Given the description of an element on the screen output the (x, y) to click on. 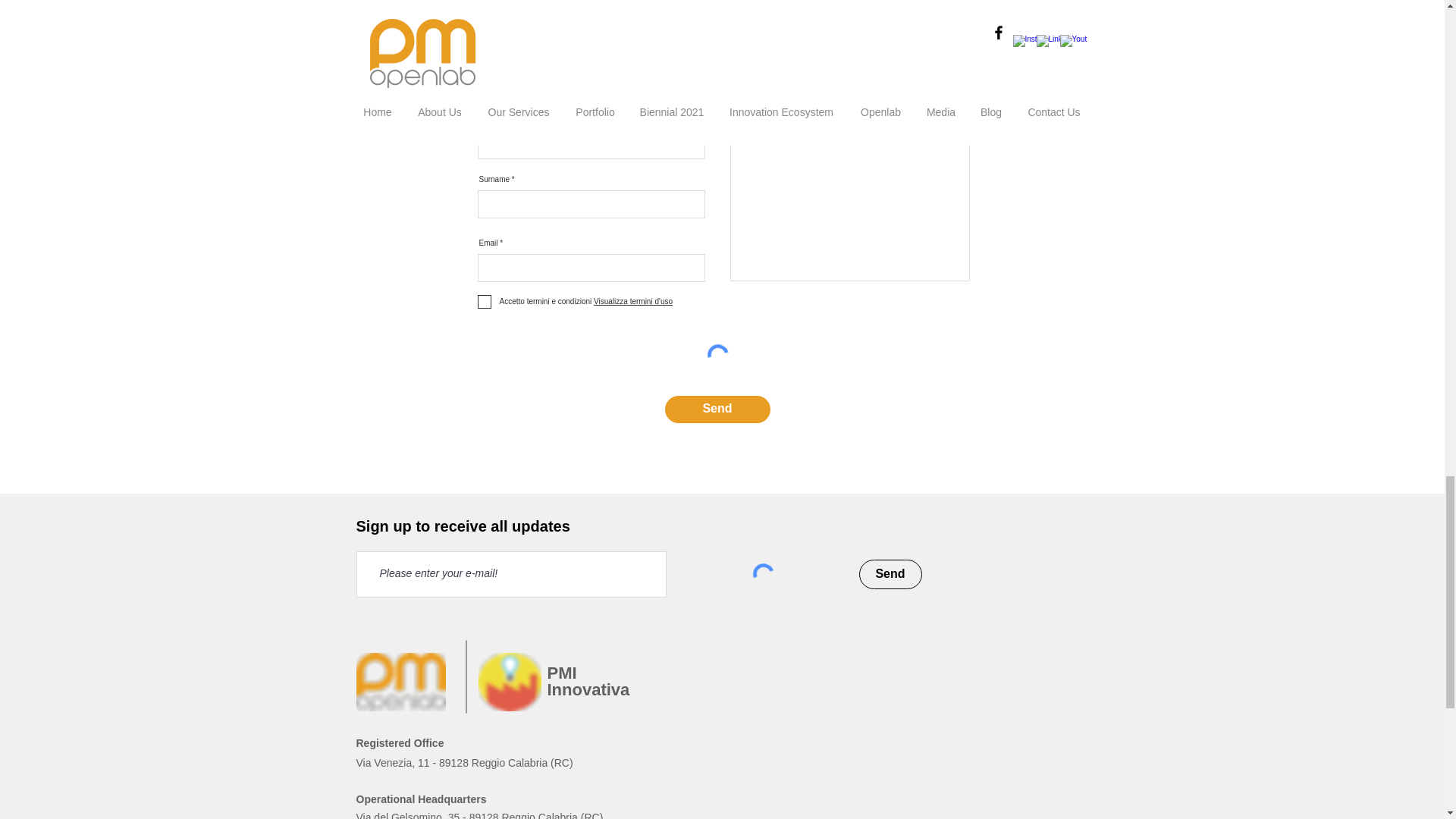
logo pmi innovative (508, 681)
Logo PMopenlab (400, 681)
Send (890, 573)
Visualizza termini d'uso (631, 301)
Send (716, 409)
